Given the description of an element on the screen output the (x, y) to click on. 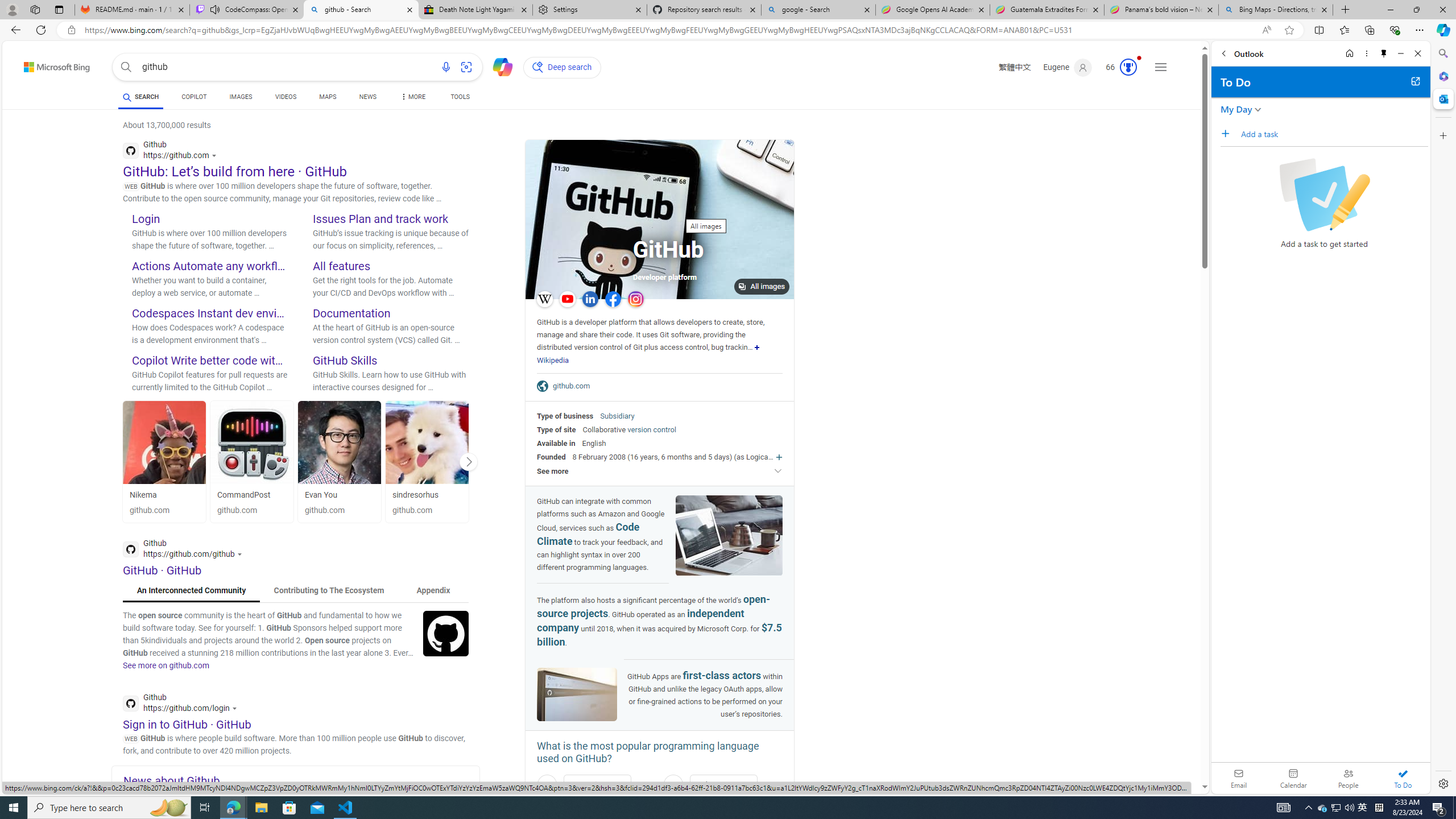
All images (761, 286)
Animation (1139, 57)
Chat (497, 65)
Nikema (163, 442)
Actions for this site (235, 708)
An Interconnected Community (191, 590)
Settings and quick links (1160, 67)
Evan You (320, 494)
All features (341, 265)
Chat (497, 65)
Add a task (1228, 133)
